Given the description of an element on the screen output the (x, y) to click on. 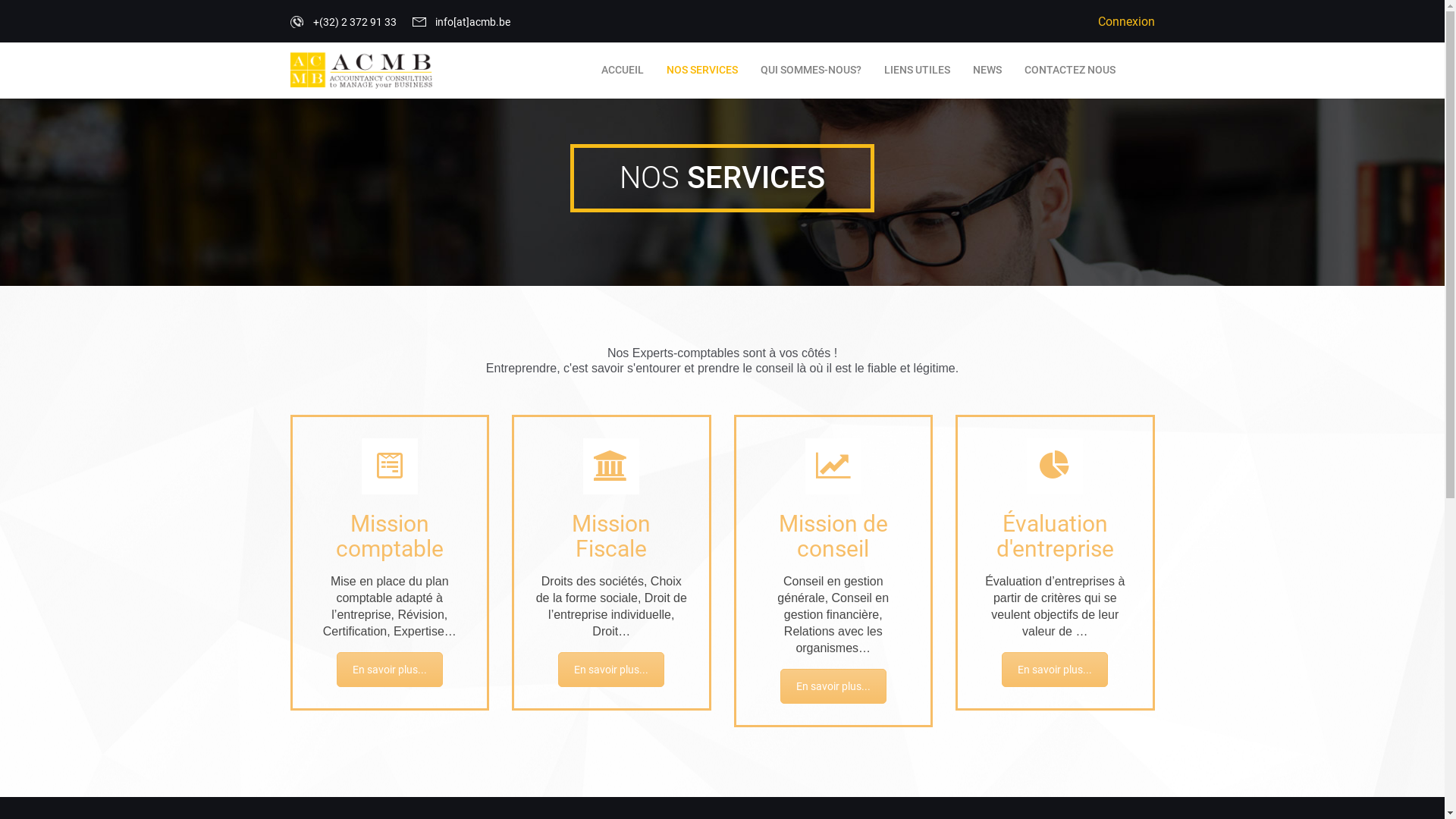
En savoir plus... Element type: text (389, 669)
+(32) 2 372 91 33 Element type: text (342, 21)
info[at]acmb.be Element type: text (829, 488)
ACMB Element type: text (549, 756)
En savoir plus... Element type: text (611, 669)
CONTACTEZ NOUS Element type: text (1069, 69)
Connexion Element type: text (1126, 21)
ACCUEIL Element type: text (622, 69)
info[at]acmb.be Element type: text (461, 21)
NEWS Element type: text (987, 69)
QUI SOMMES-NOUS? Element type: text (810, 69)
En savoir plus... Element type: text (833, 685)
Calendrier Fiscal : Mars 2016 Element type: text (636, 556)
+(32) 2 372 91 33 Element type: text (835, 454)
LIENS UTILES Element type: text (916, 69)
NOS SERVICES Element type: text (702, 69)
En savoir plus... Element type: text (1054, 669)
